Given the description of an element on the screen output the (x, y) to click on. 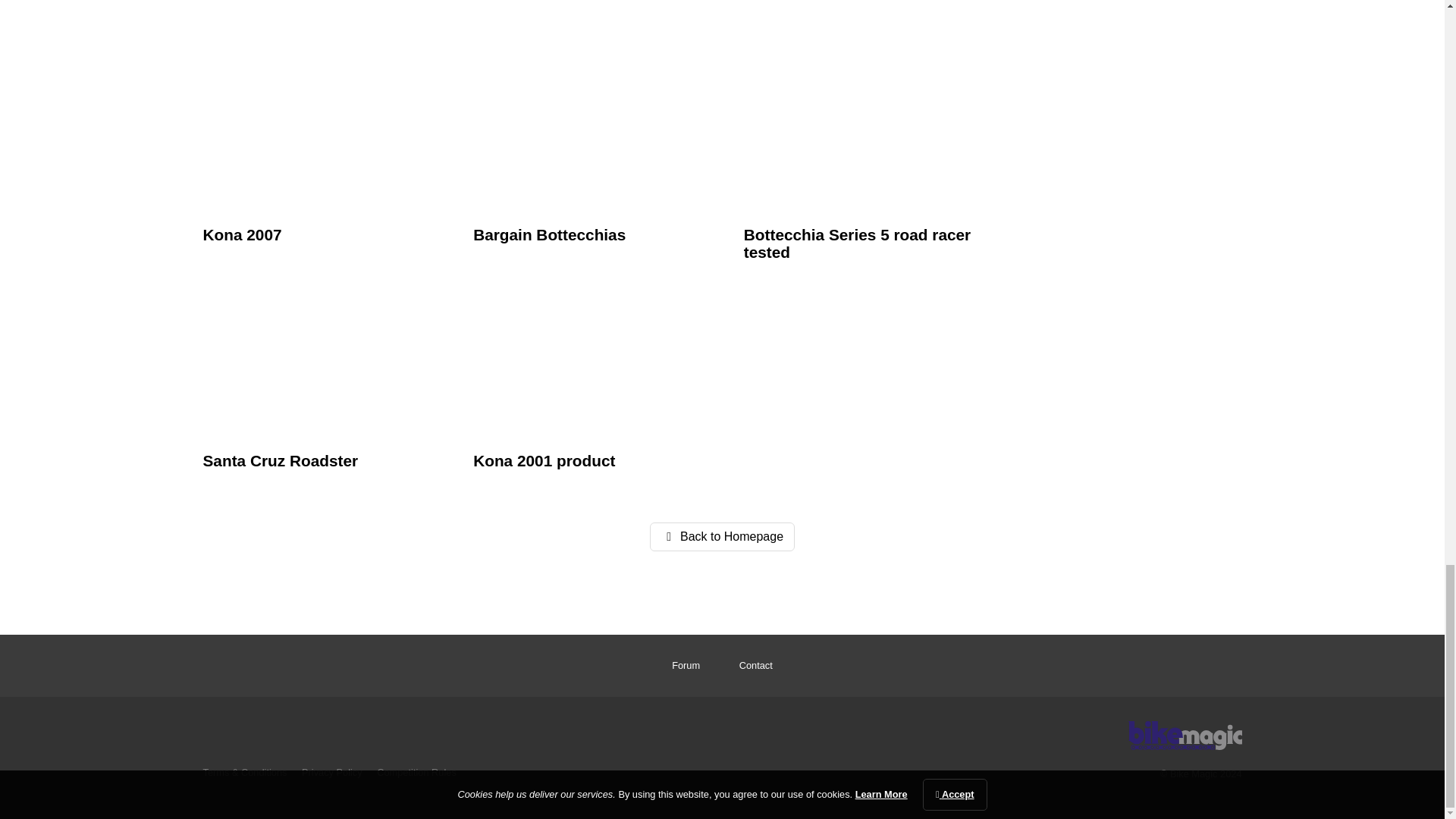
logo (1184, 735)
Homepage (1184, 730)
